Given the description of an element on the screen output the (x, y) to click on. 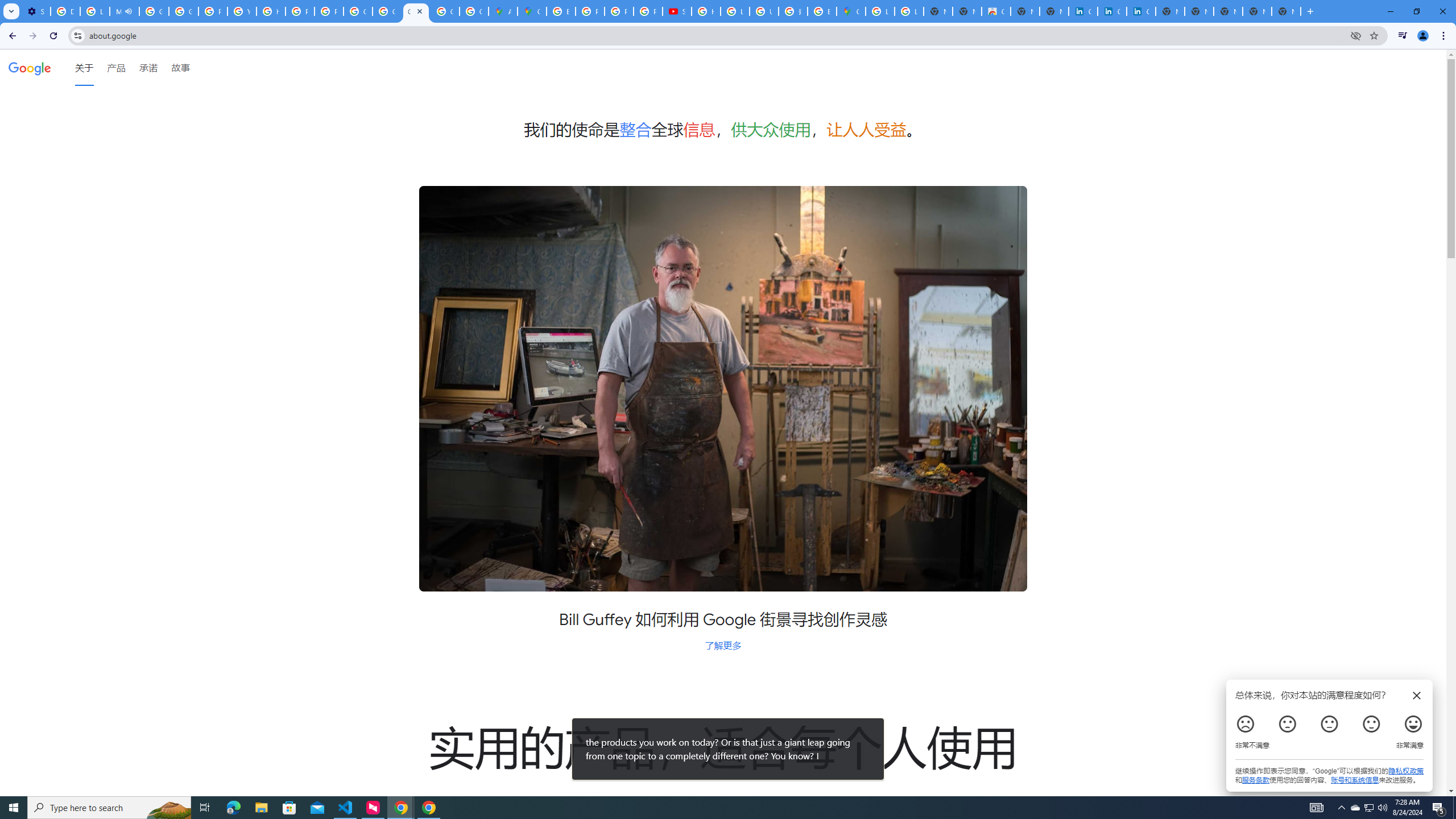
Google Account Help (153, 11)
How Chrome protects your passwords - Google Chrome Help (705, 11)
Cookie Policy | LinkedIn (1111, 11)
Copyright Policy (1140, 11)
